Given the description of an element on the screen output the (x, y) to click on. 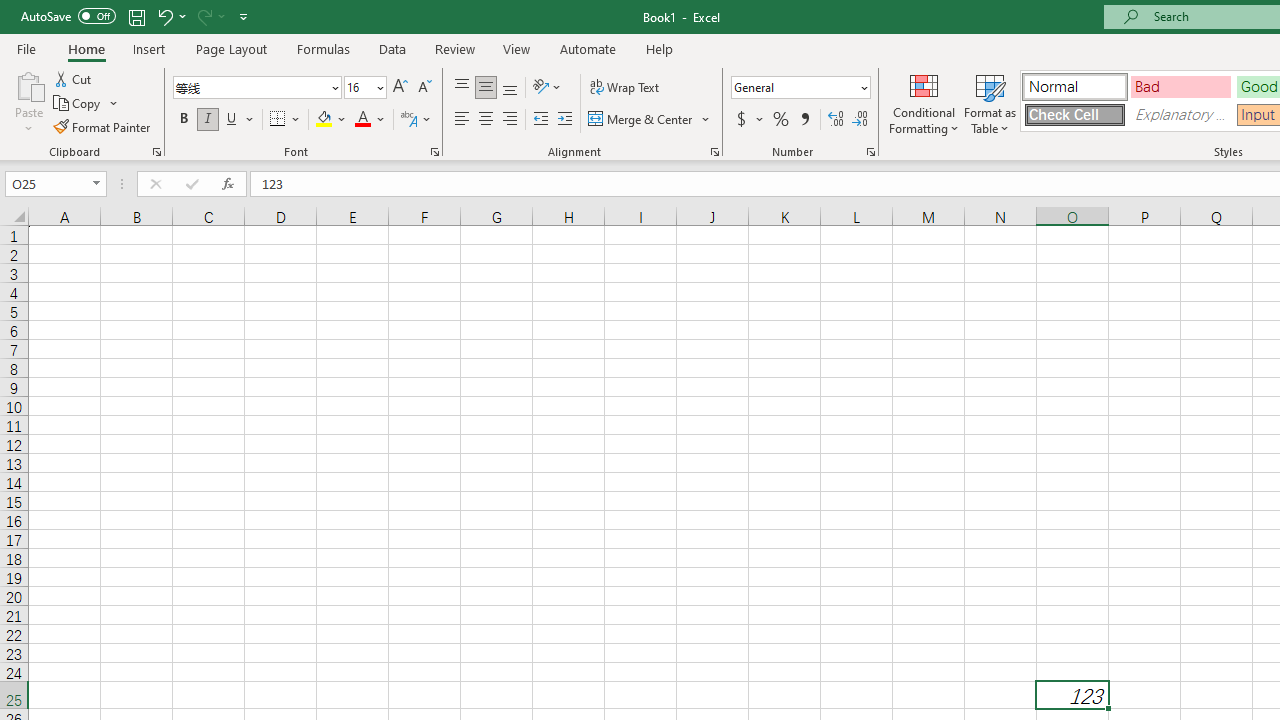
Font Size (358, 87)
Format Cell Alignment (714, 151)
Decrease Font Size (424, 87)
Format Painter (103, 126)
